Given the description of an element on the screen output the (x, y) to click on. 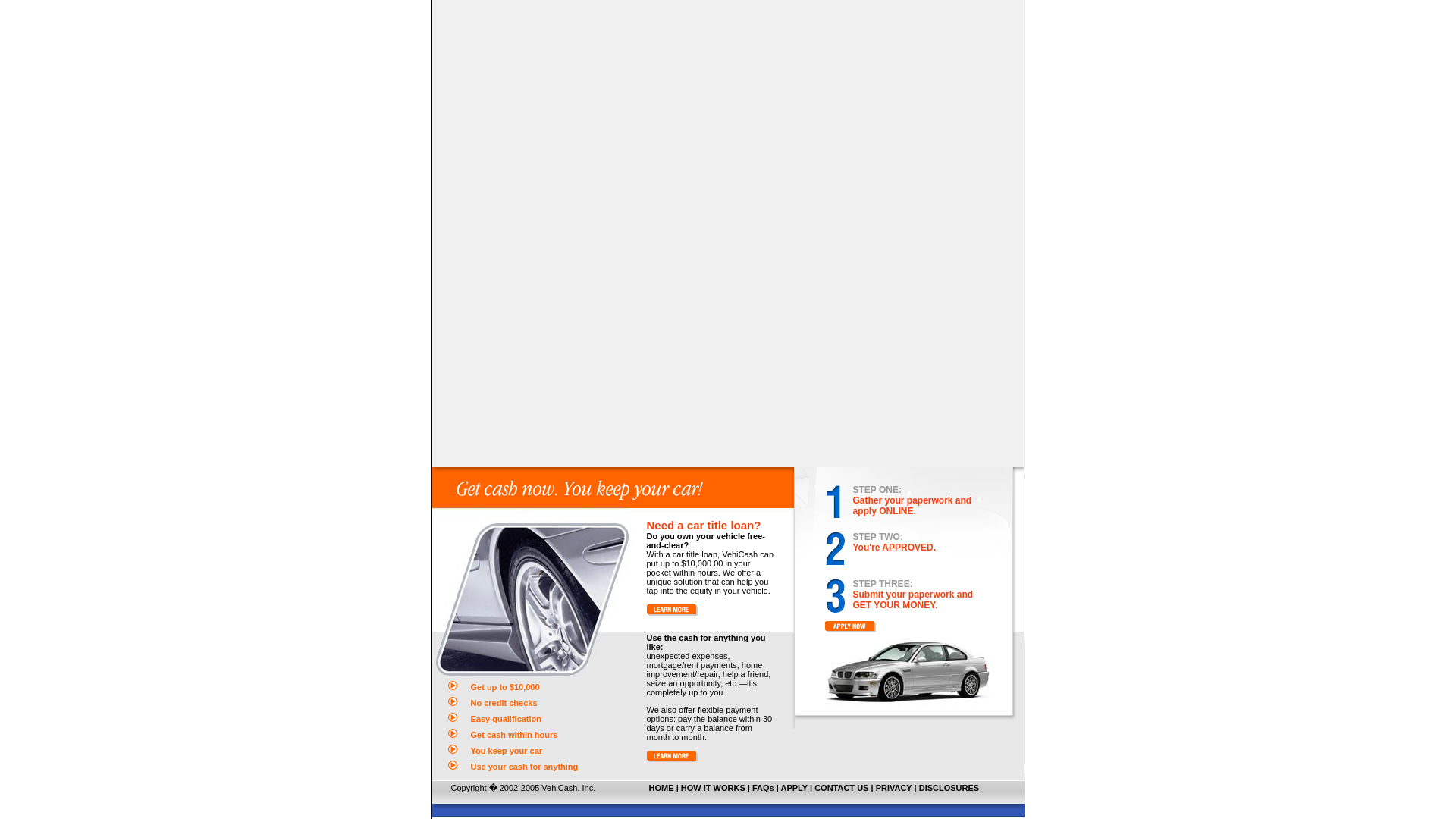
PRIVACY (894, 787)
Use your cash for anything (524, 766)
Easy qualification (505, 718)
CONTACT US (840, 787)
You keep your car (506, 750)
DISCLOSURES (948, 787)
FAQs (763, 787)
Get cash within hours (513, 734)
HOW IT WORKS (713, 787)
No credit checks (503, 702)
APPLY (793, 787)
HOME (661, 787)
